Given the description of an element on the screen output the (x, y) to click on. 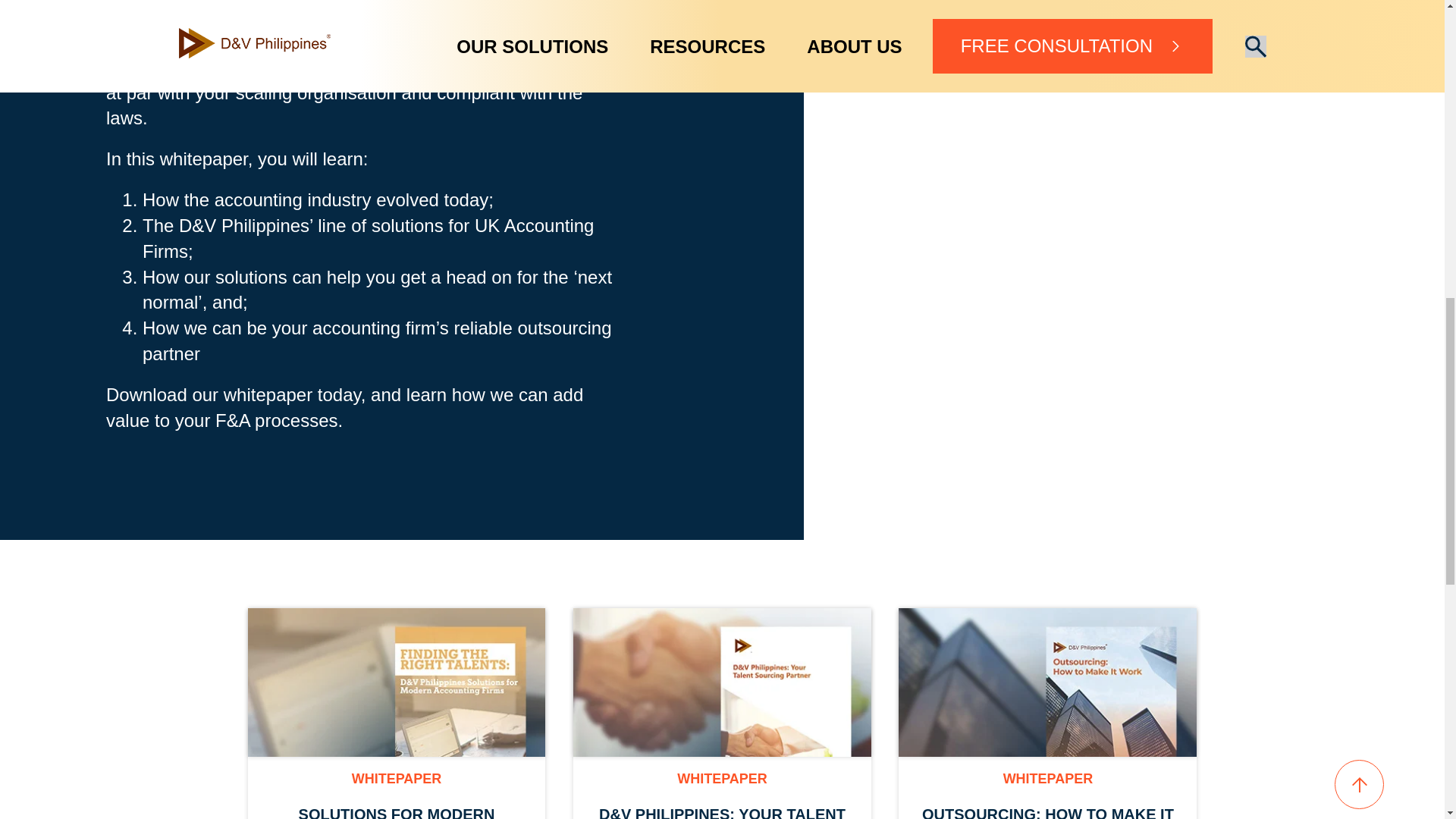
SOLUTIONS FOR MODERN ACCOUNTING FIRMS (396, 811)
OUTSOURCING: HOW TO MAKE IT WORK (1047, 811)
